Given the description of an element on the screen output the (x, y) to click on. 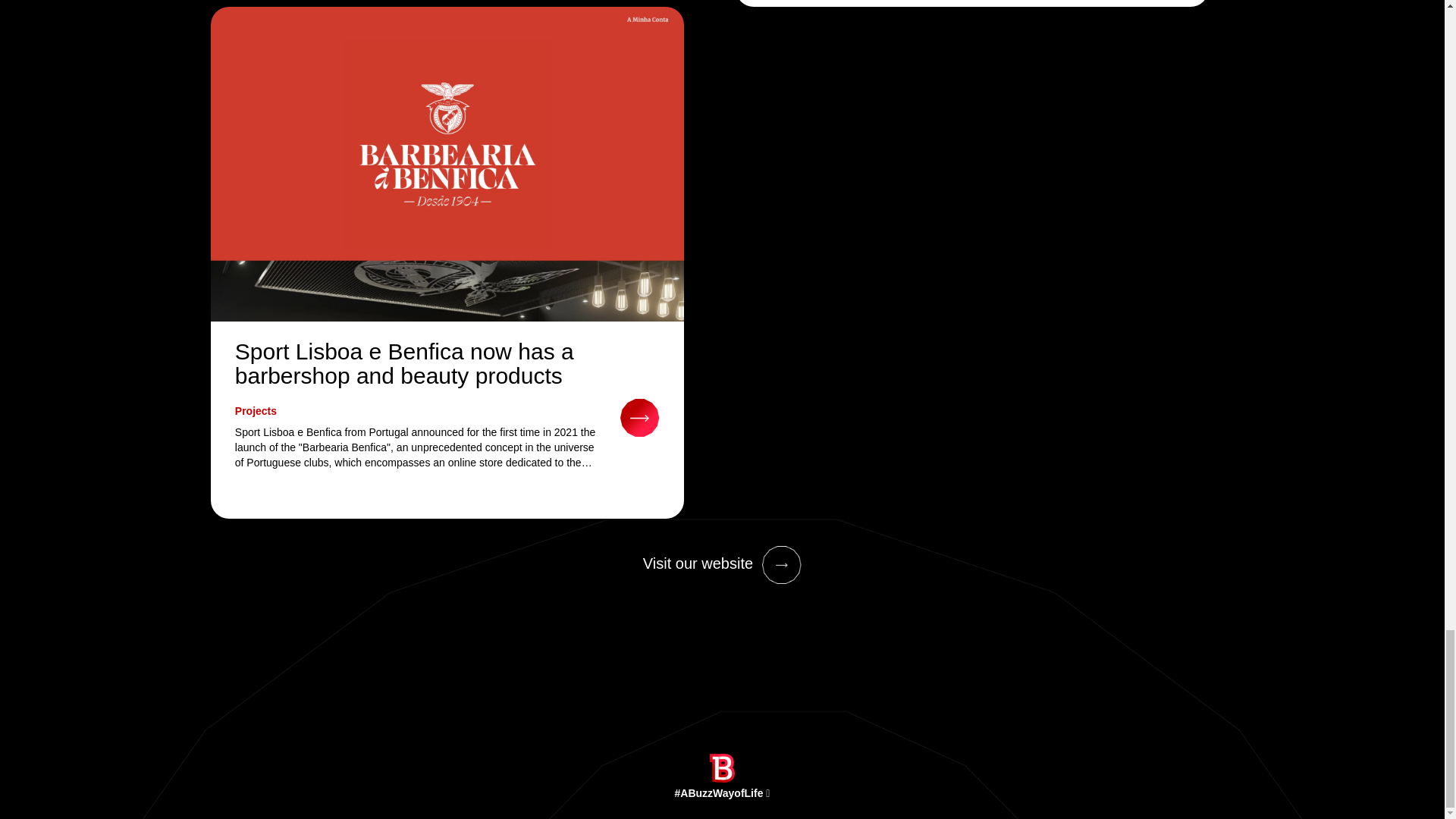
button-let-talk (639, 415)
button-let-talk (781, 562)
